Given the description of an element on the screen output the (x, y) to click on. 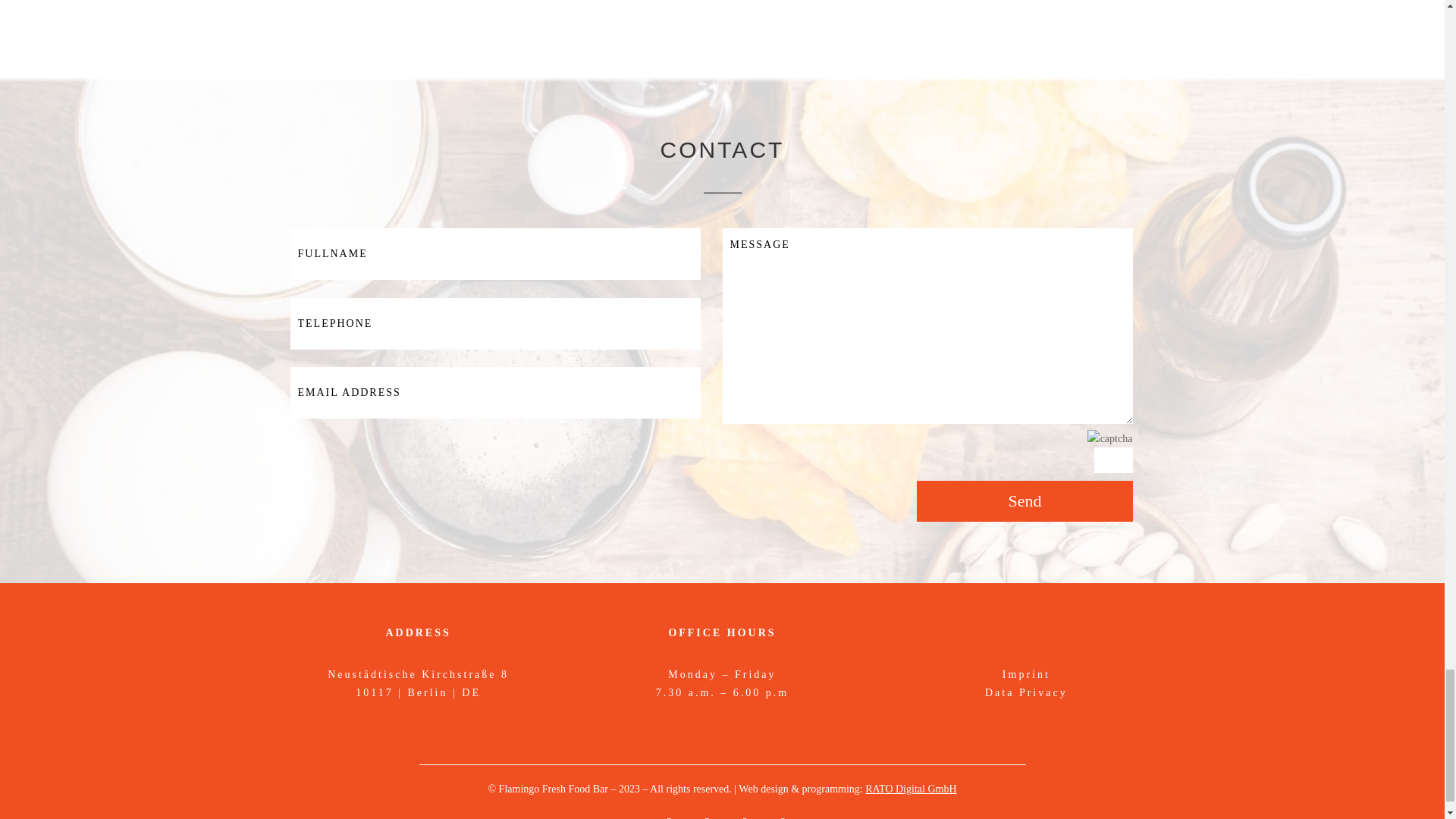
Send (1024, 500)
Send (1024, 500)
Data Privacy (1026, 692)
RATO Digital GmbH (910, 788)
Imprint (1026, 674)
